Given the description of an element on the screen output the (x, y) to click on. 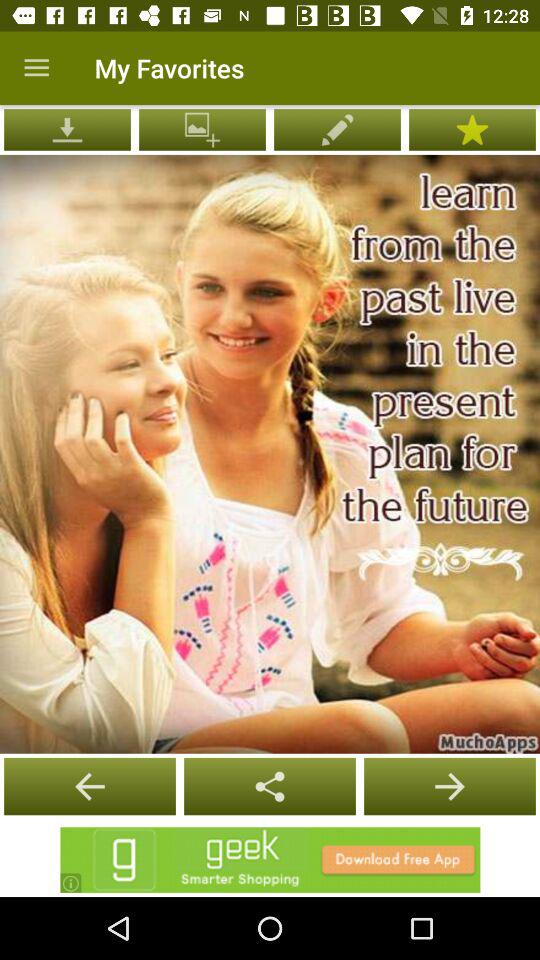
download geek app (270, 859)
